Given the description of an element on the screen output the (x, y) to click on. 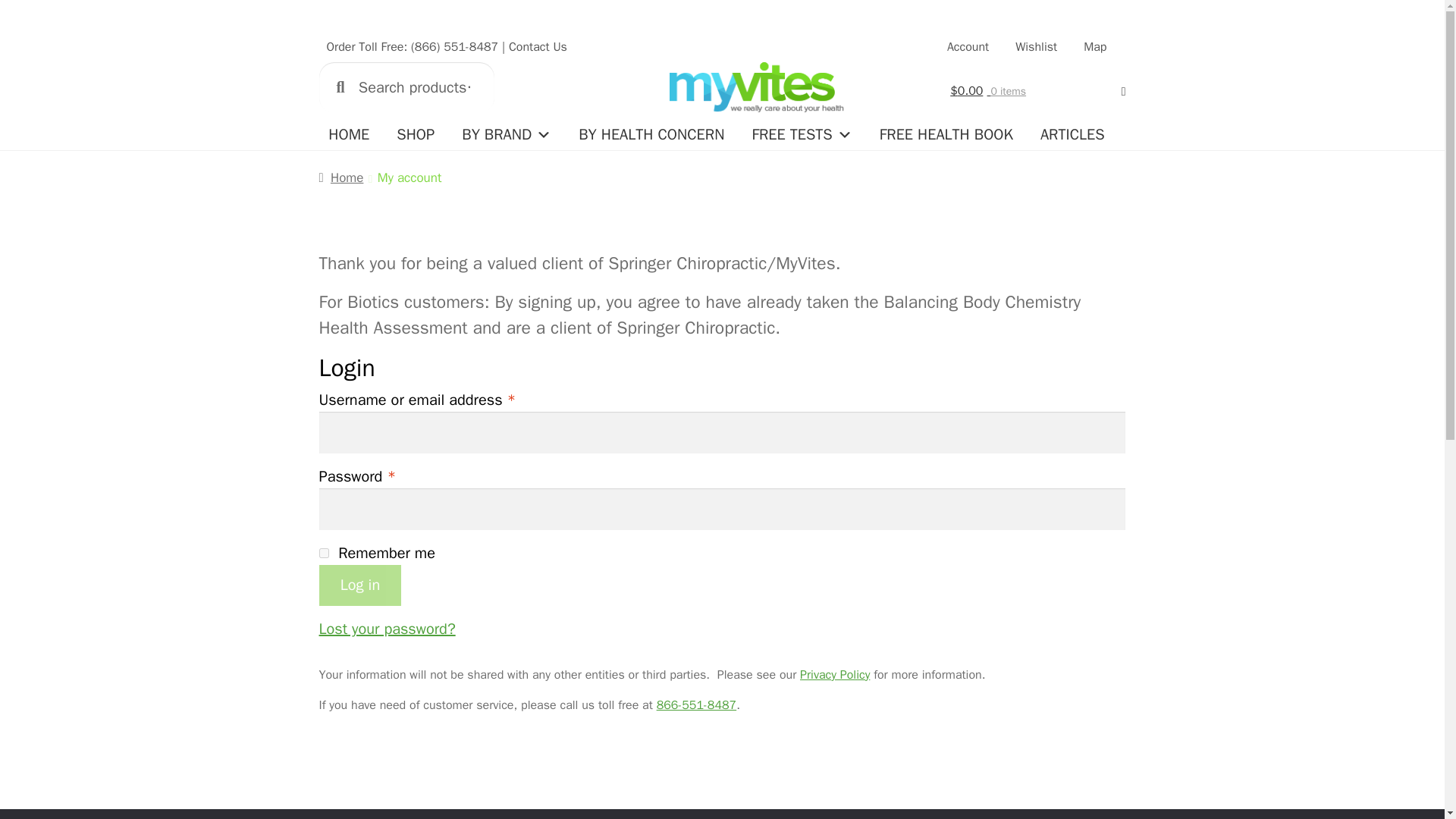
BY BRAND (506, 134)
View your shopping cart (1037, 90)
FREE HEALTH BOOK (946, 134)
Map (1094, 46)
forever (323, 552)
Account (967, 46)
SHOP (415, 134)
Wishlist (1035, 46)
ARTICLES (1072, 134)
BY HEALTH CONCERN (651, 134)
HOME (348, 134)
FREE TESTS (801, 134)
